Given the description of an element on the screen output the (x, y) to click on. 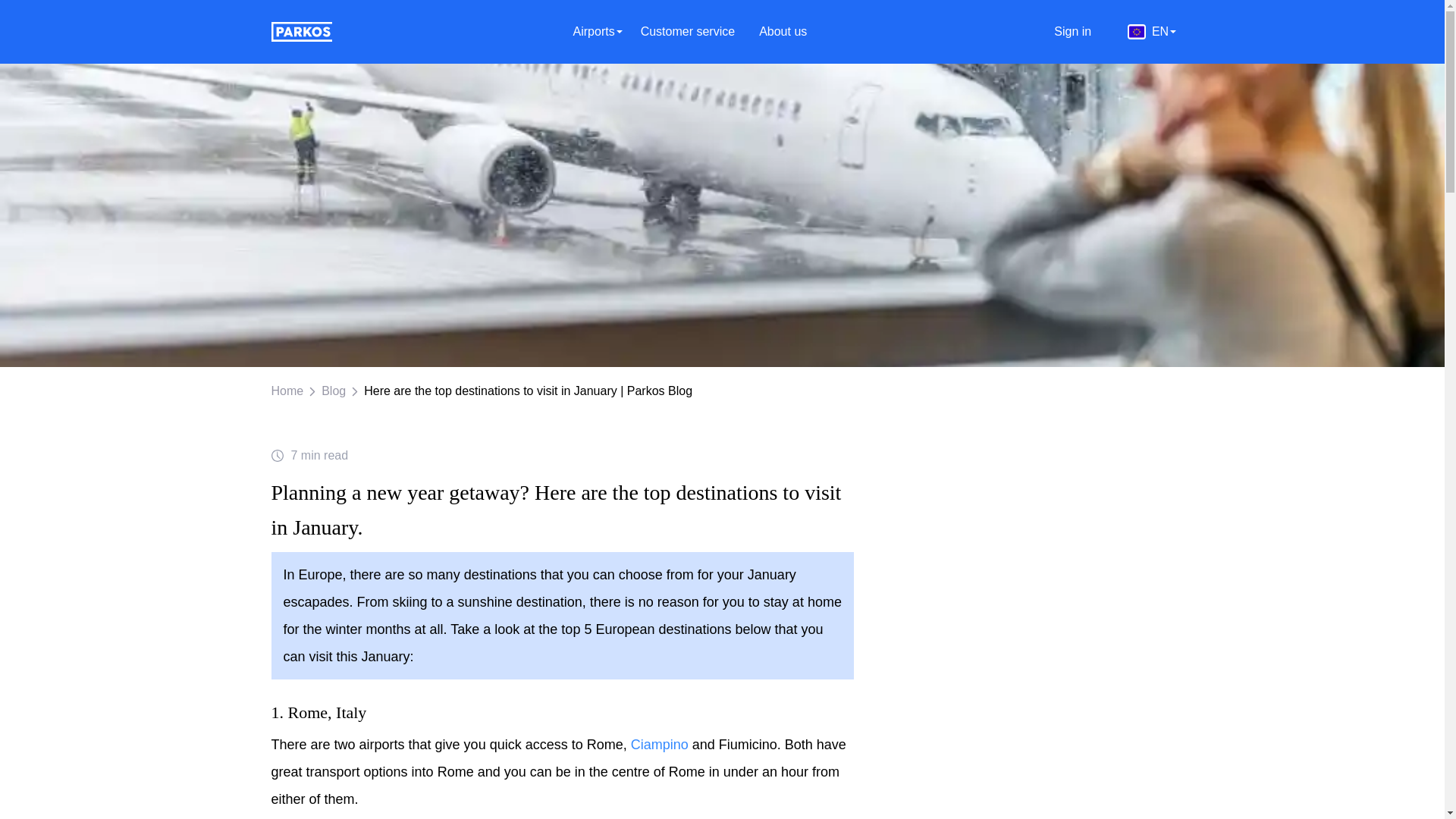
Ciampino (659, 744)
Sign in (1075, 31)
About us (785, 31)
Blog (333, 391)
Home (287, 391)
Customer service (690, 31)
EN (756, 31)
